Given the description of an element on the screen output the (x, y) to click on. 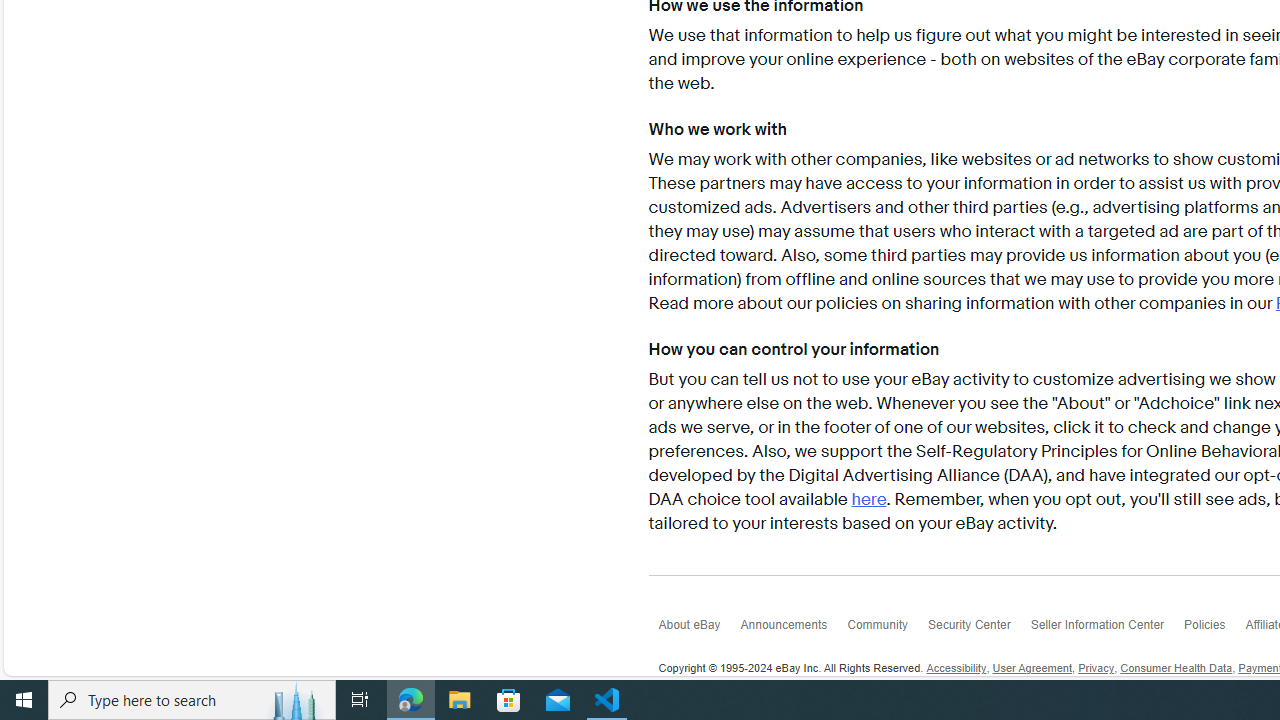
Policies (1214, 630)
here (869, 500)
Policies (1214, 629)
User Agreement (1032, 669)
About eBay (699, 630)
About eBay (699, 629)
Security Center (978, 629)
Seller Information Center (1107, 630)
Consumer Health Data (1176, 669)
Accessibility (955, 669)
Announcements (793, 629)
Community (887, 629)
Seller Information Center (1107, 629)
Community (887, 630)
